Given the description of an element on the screen output the (x, y) to click on. 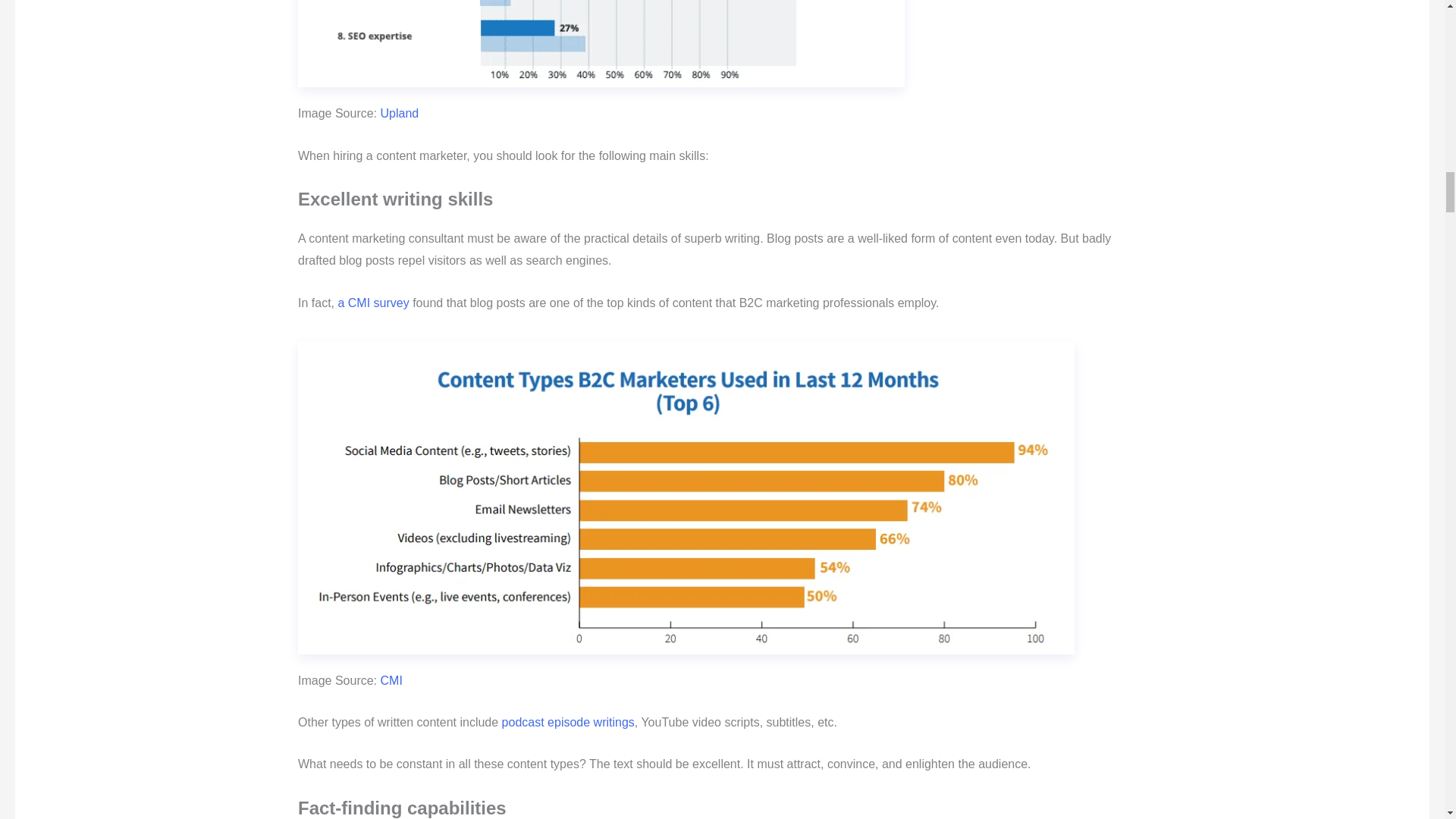
content-marketer-qualities (601, 43)
